Given the description of an element on the screen output the (x, y) to click on. 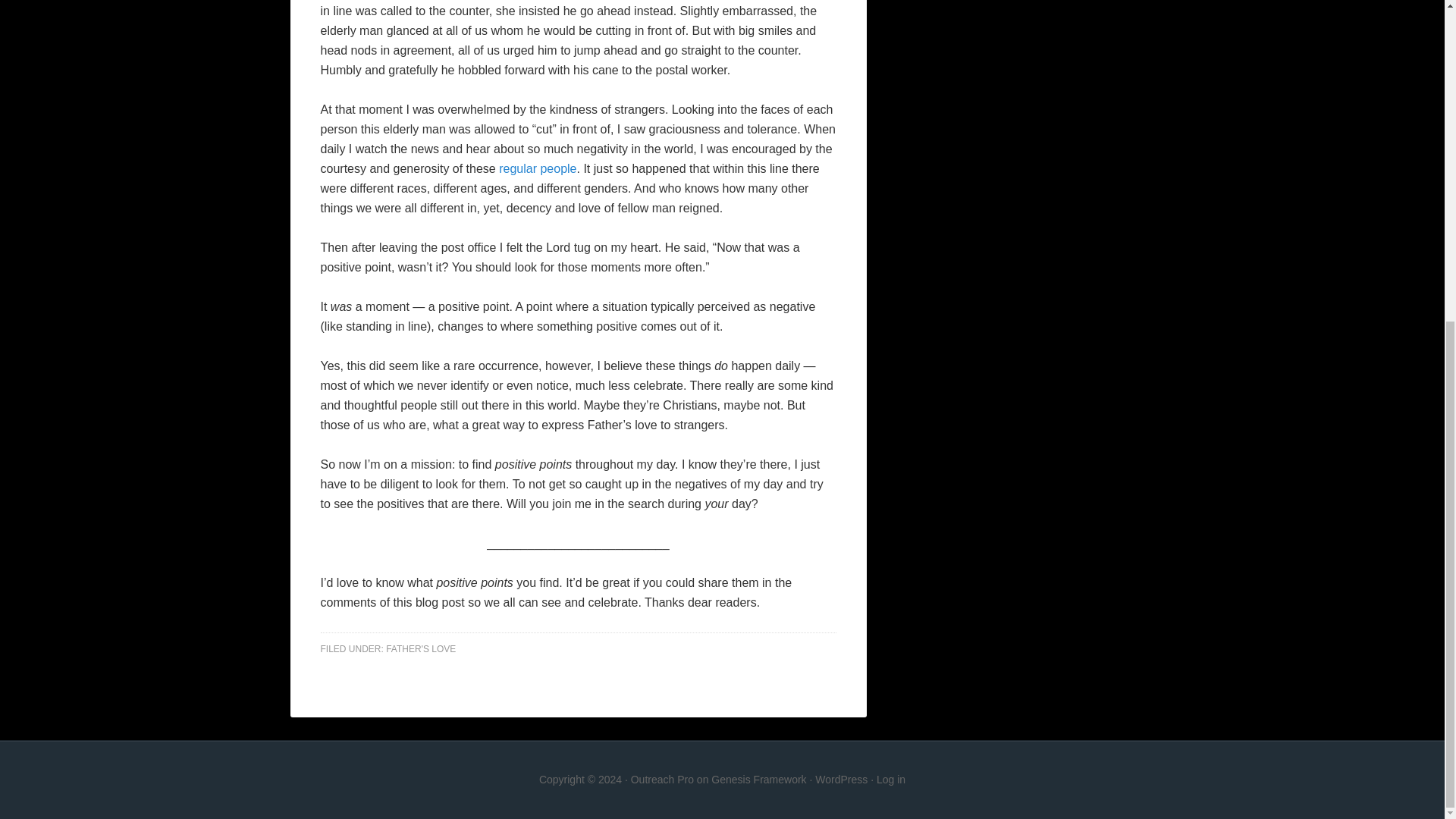
regular people (537, 167)
Genesis Framework (758, 779)
FATHER'S LOVE (420, 648)
Log in (890, 779)
WordPress (841, 779)
Outreach Pro (662, 779)
